Given the description of an element on the screen output the (x, y) to click on. 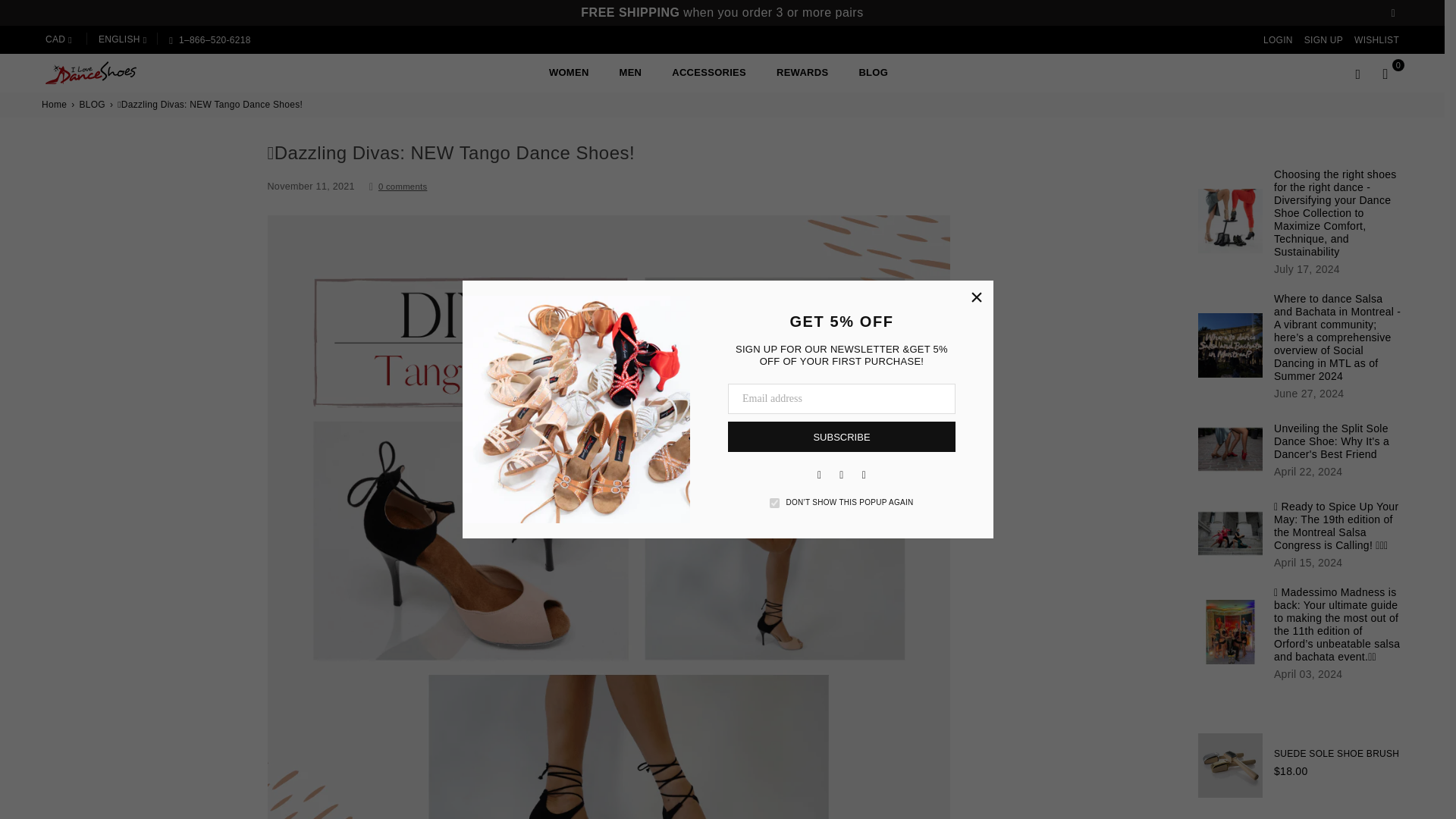
LOGIN (1277, 39)
Facebook (819, 475)
SUBSCRIBE (841, 436)
on (774, 502)
WISHLIST (1376, 39)
iLoveDanceShoes on Facebook (819, 475)
ENGLISH (122, 39)
Cart (1385, 72)
WOMEN (568, 72)
YouTube (863, 475)
ILOVEDANCESHOES (109, 72)
Search (1357, 72)
Back to the home page (55, 104)
iLoveDanceShoes on YouTube (863, 475)
Instagram (841, 475)
